Given the description of an element on the screen output the (x, y) to click on. 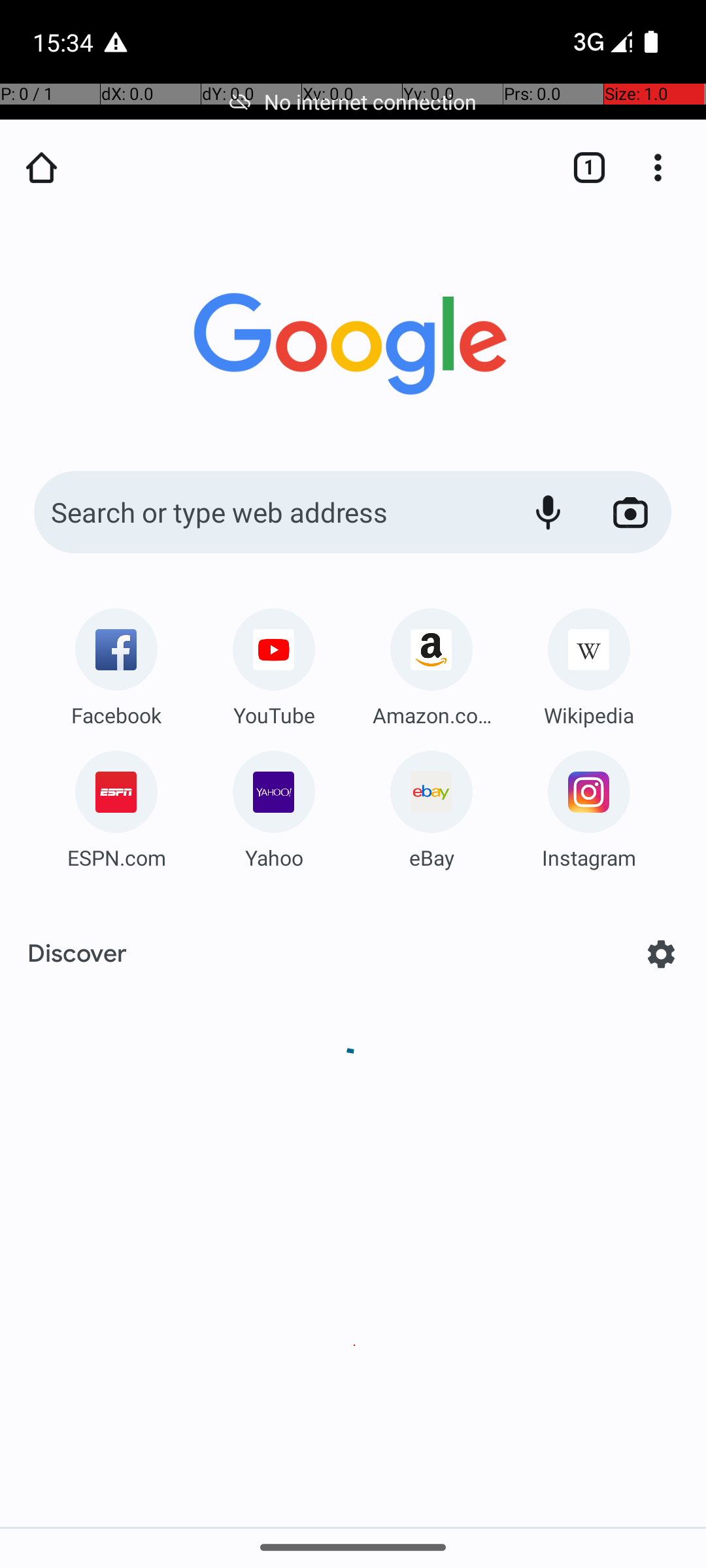
Search or type web address Element type: android.widget.EditText (267, 512)
Start voice search Element type: android.widget.ImageView (547, 512)
Search with your camera using Google Lens Element type: android.widget.ImageView (629, 512)
Navigate: Facebook: m.facebook.com Element type: android.widget.FrameLayout (115, 662)
Navigate: YouTube: m.youtube.com Element type: android.widget.FrameLayout (273, 662)
Navigate: Amazon.com: www.amazon.com Element type: android.widget.FrameLayout (431, 662)
Navigate: Wikipedia: en.m.wikipedia.org Element type: android.widget.FrameLayout (588, 662)
Navigate: ESPN.com: www.espn.com Element type: android.widget.FrameLayout (115, 804)
Navigate: Yahoo: www.yahoo.com Element type: android.widget.FrameLayout (273, 804)
Navigate: eBay: m.ebay.com Element type: android.widget.FrameLayout (431, 804)
Navigate: Instagram: www.instagram.com Element type: android.widget.FrameLayout (588, 804)
Discover Element type: android.widget.TextView (76, 953)
Options for Discover Element type: android.widget.ImageButton (660, 953)
Facebook Element type: android.widget.TextView (115, 715)
Amazon.com Element type: android.widget.TextView (430, 715)
Wikipedia Element type: android.widget.TextView (588, 715)
ESPN.com Element type: android.widget.TextView (115, 857)
Yahoo Element type: android.widget.TextView (273, 857)
eBay Element type: android.widget.TextView (430, 857)
Instagram Element type: android.widget.TextView (588, 857)
